Given the description of an element on the screen output the (x, y) to click on. 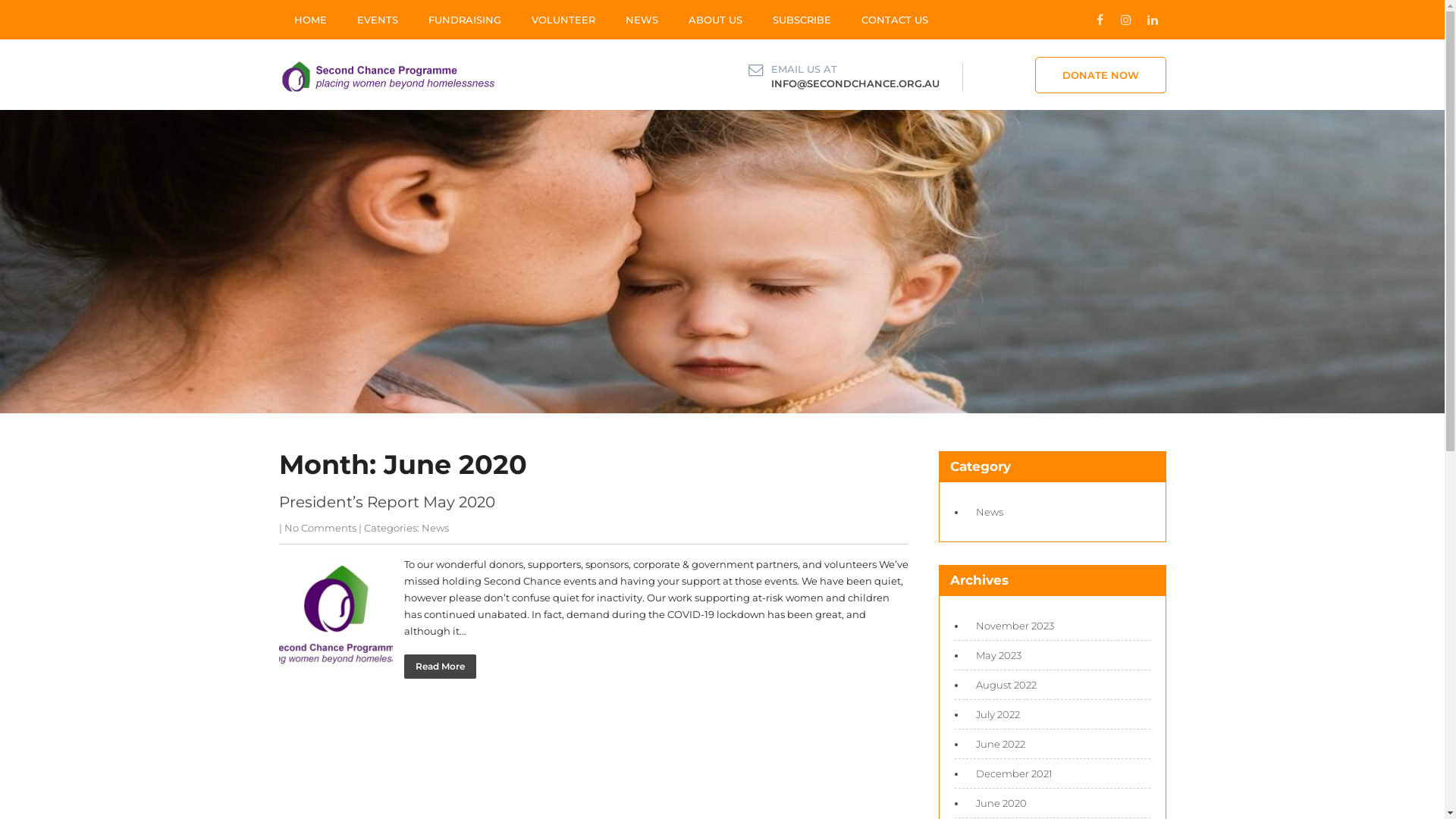
HOME Element type: text (310, 19)
June 2022 Element type: text (995, 743)
INFO@SECONDCHANCE.ORG.AU Element type: text (854, 83)
linkedin Element type: hover (1152, 19)
NEWS Element type: text (640, 19)
June 2020 Element type: text (996, 803)
EVENTS Element type: text (376, 19)
DONATE NOW Element type: text (1099, 74)
November 2023 Element type: text (1010, 625)
facebook Element type: hover (1098, 19)
July 2022 Element type: text (993, 714)
FUNDRAISING Element type: text (463, 19)
August 2022 Element type: text (1001, 684)
News Element type: text (984, 511)
instagram Element type: hover (1126, 19)
CONTACT US Element type: text (894, 19)
Read More Element type: text (439, 666)
May 2023 Element type: text (993, 655)
December 2021 Element type: text (1009, 773)
SUBSCRIBE Element type: text (800, 19)
News Element type: text (434, 527)
VOLUNTEER Element type: text (562, 19)
ABOUT US Element type: text (715, 19)
No Comments Element type: text (319, 527)
